Given the description of an element on the screen output the (x, y) to click on. 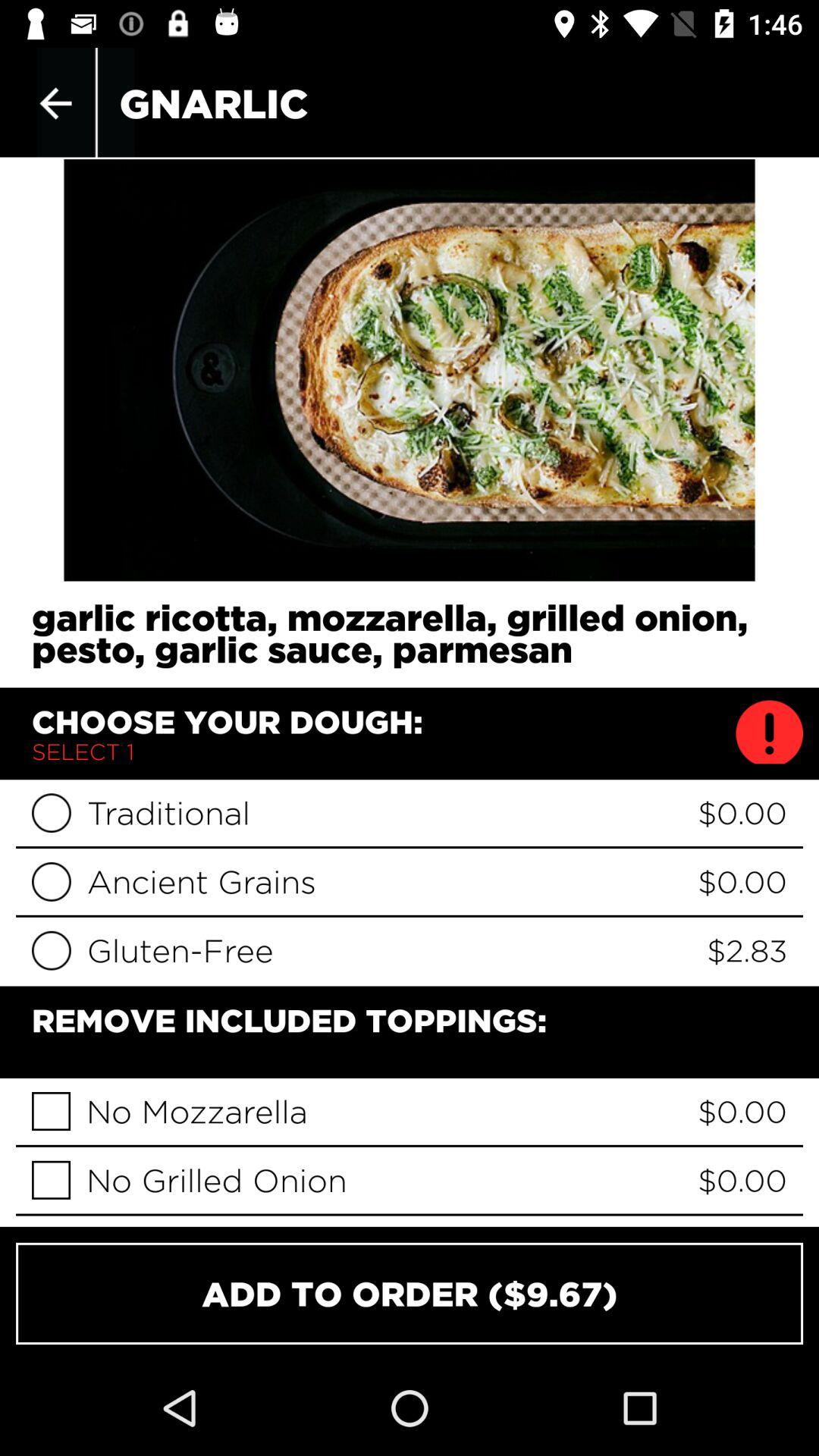
select topping no grilled onion (50, 1179)
